Given the description of an element on the screen output the (x, y) to click on. 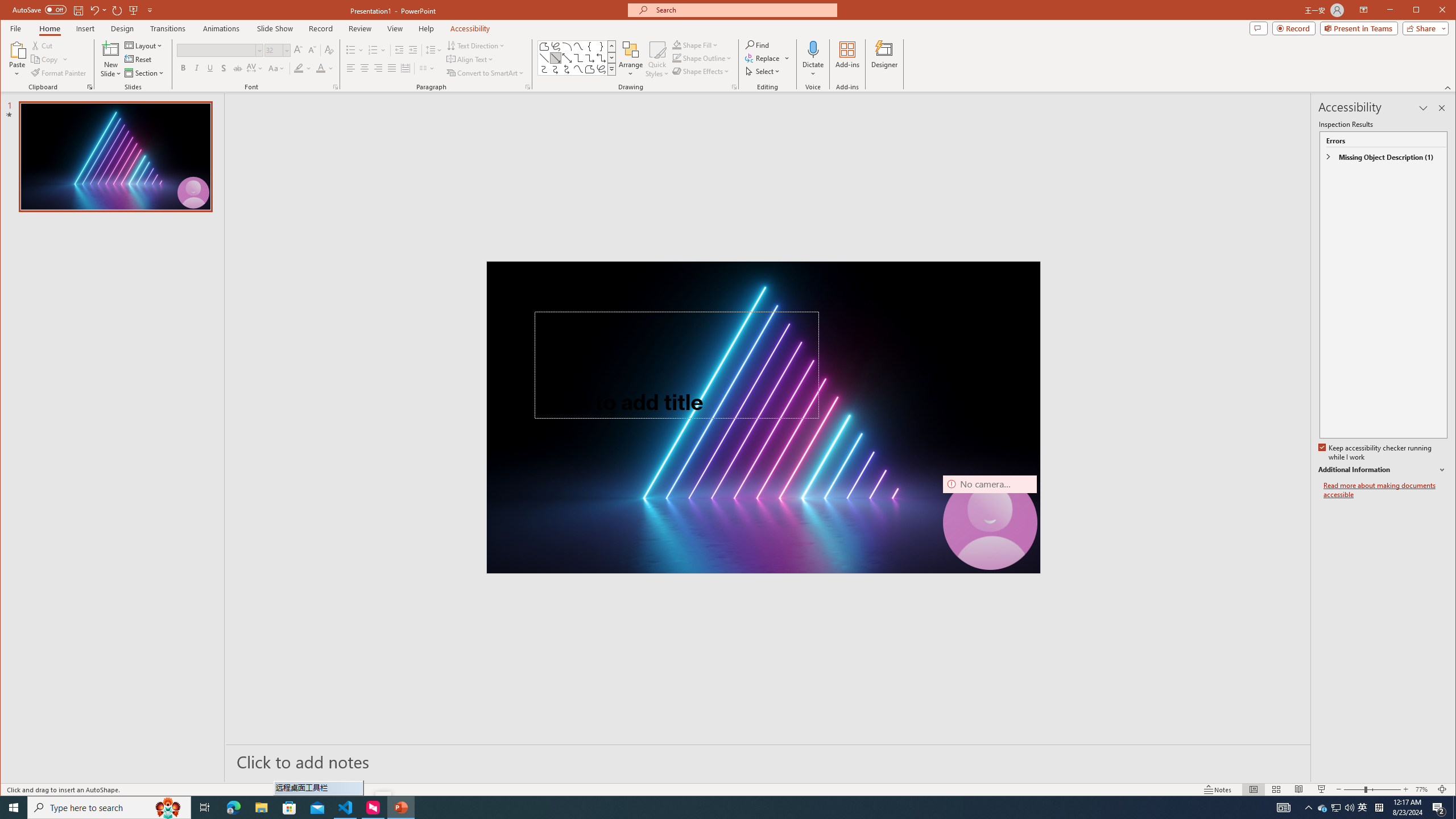
Zoom 77% (1422, 789)
Line Arrow: Double (567, 57)
